Given the description of an element on the screen output the (x, y) to click on. 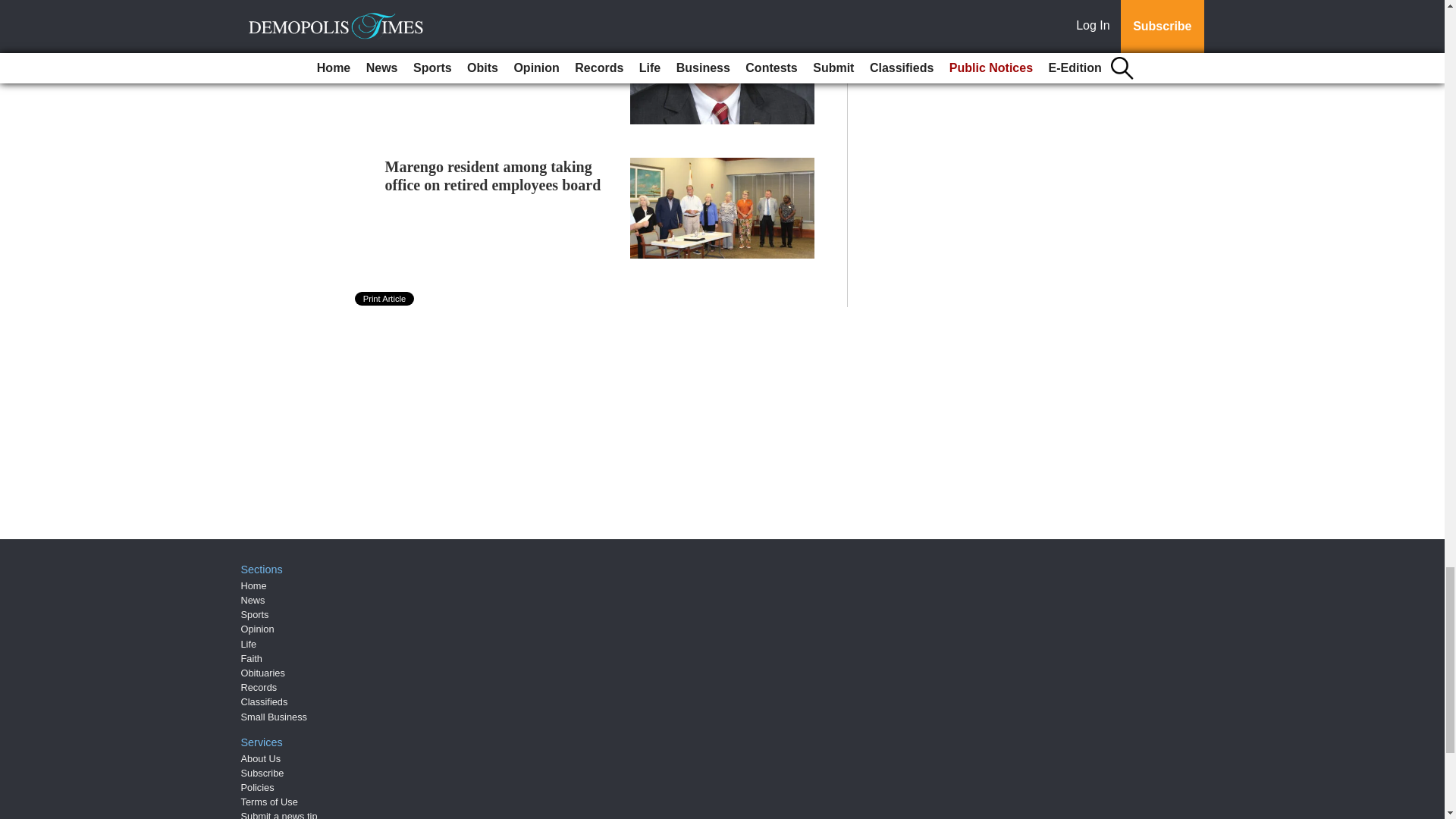
Print Article (384, 298)
Holemon elected to state bankers board (491, 40)
Holemon elected to state bankers board (491, 40)
